Given the description of an element on the screen output the (x, y) to click on. 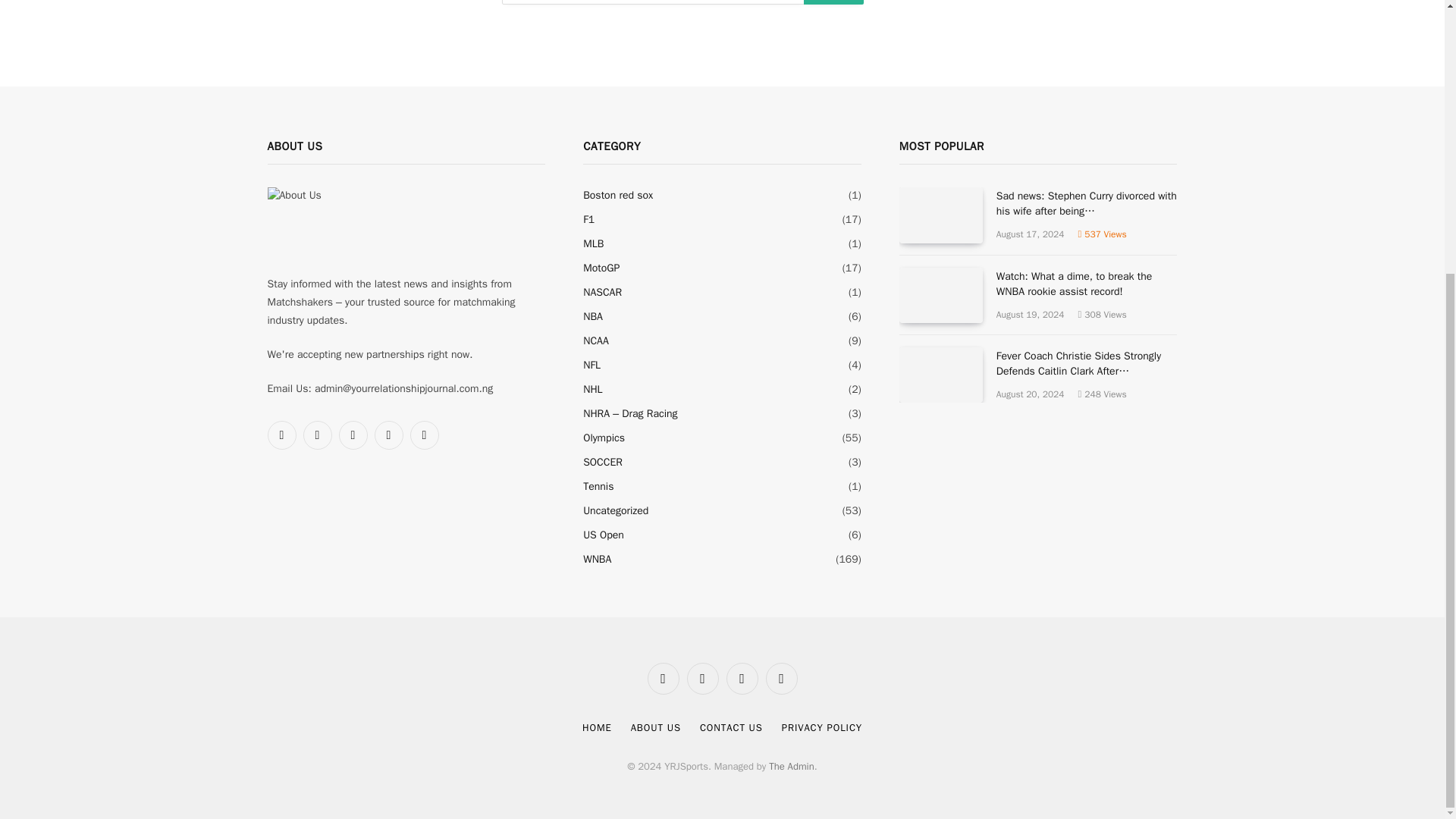
Search (833, 2)
Search (833, 2)
Facebook (280, 434)
308 Article Views (1102, 314)
248 Article Views (1102, 394)
537 Article Views (1102, 234)
Watch: What a dime, to break the WNBA rookie assist record! (940, 294)
Search (833, 2)
